Given the description of an element on the screen output the (x, y) to click on. 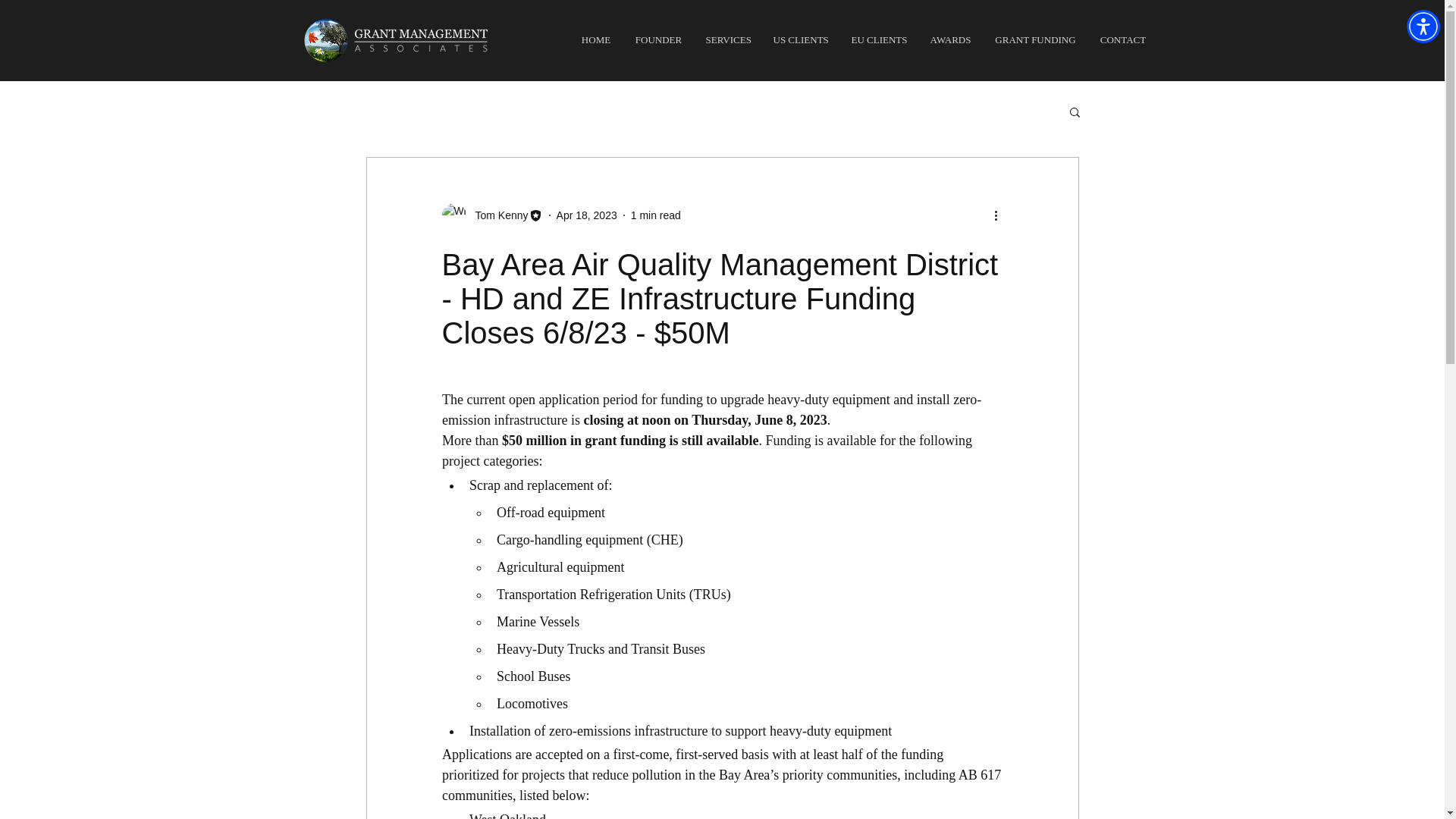
Tom  Kenny (496, 215)
1 min read (655, 215)
FOUNDER (658, 39)
HOME (596, 39)
GRANT FUNDING (1034, 39)
EU CLIENTS (879, 39)
Accessibility Menu (1422, 26)
Apr 18, 2023 (586, 215)
CONTACT (1122, 39)
AWARDS (949, 39)
